Given the description of an element on the screen output the (x, y) to click on. 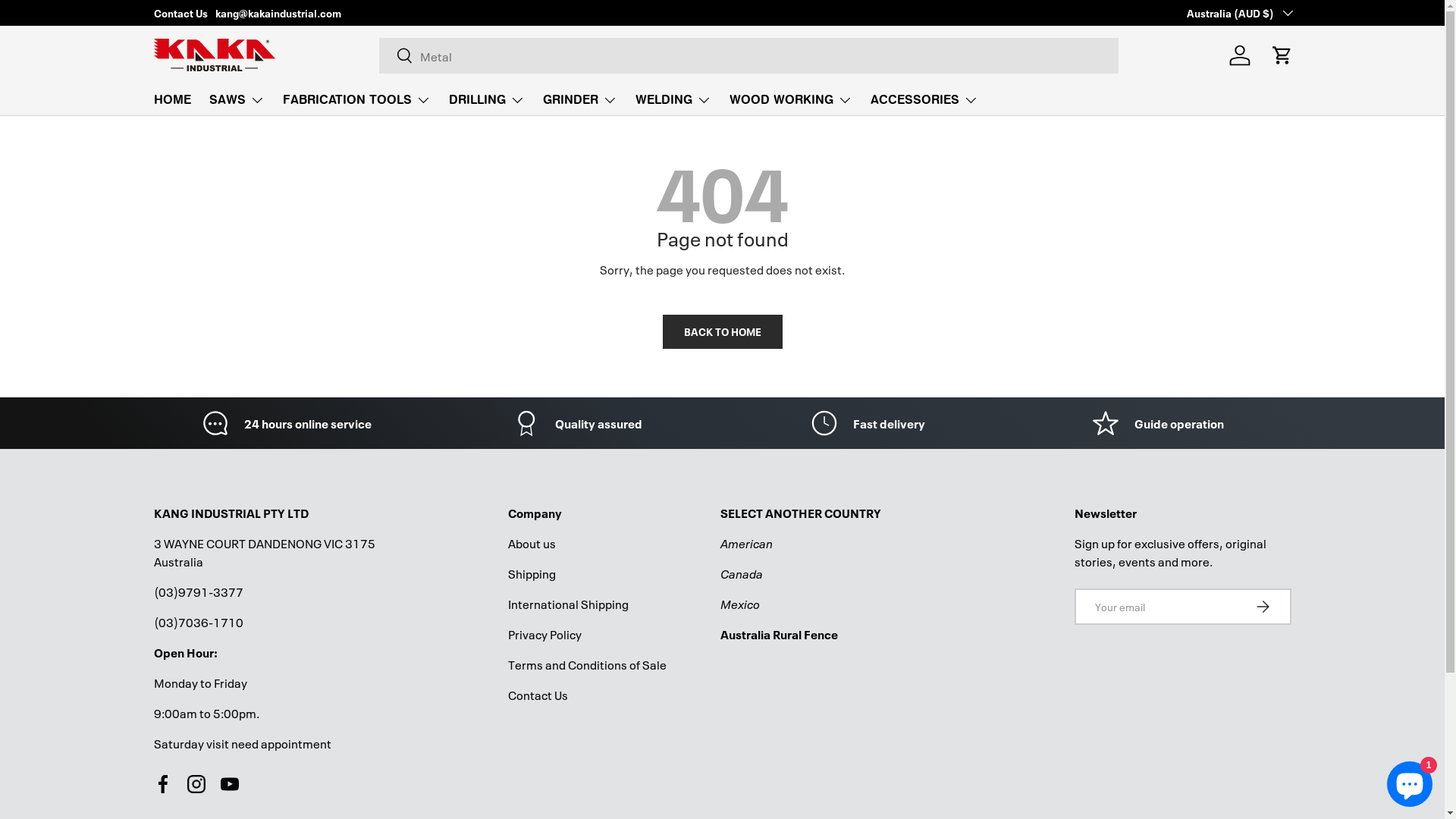
Mexico Element type: text (739, 603)
Search Element type: text (396, 56)
WOOD WORKING Element type: text (790, 99)
HOME Element type: text (171, 99)
Shopify online store chat Element type: hover (1409, 780)
ACCESSORIES Element type: text (924, 99)
Australia Rural Fence Element type: text (778, 633)
SAWS Element type: text (236, 99)
Terms and Conditions of Sale Element type: text (587, 663)
YouTube Element type: text (228, 783)
Australia (AUD $) Element type: text (1238, 12)
WELDING Element type: text (673, 99)
DRILLING Element type: text (486, 99)
SKIP TO CONTENT Element type: text (68, 21)
Cart Element type: text (1281, 55)
International Shipping Element type: text (568, 603)
BACK TO HOME Element type: text (722, 331)
Canada Element type: text (741, 572)
Contact Us Element type: text (537, 694)
GRINDER Element type: text (579, 99)
American Element type: text (746, 542)
Shipping Element type: text (531, 572)
FABRICATION TOOLS Element type: text (355, 99)
SUBSCRIBE Element type: text (1261, 606)
Instagram Element type: text (195, 783)
About us Element type: text (531, 542)
Log in Element type: text (1238, 55)
Privacy Policy Element type: text (544, 633)
Facebook Element type: text (161, 783)
